Given the description of an element on the screen output the (x, y) to click on. 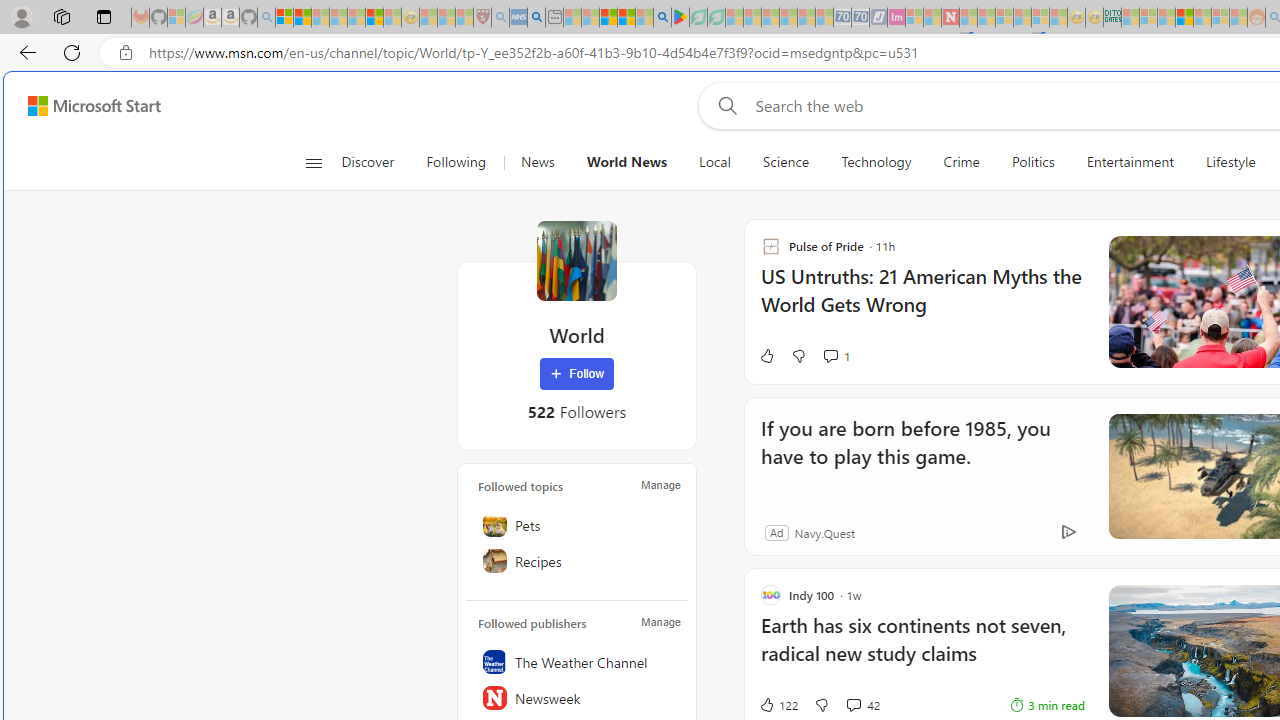
Earth has six continents not seven, radical new study claims (922, 650)
utah sues federal government - Search (536, 17)
Pets (577, 525)
